Given the description of an element on the screen output the (x, y) to click on. 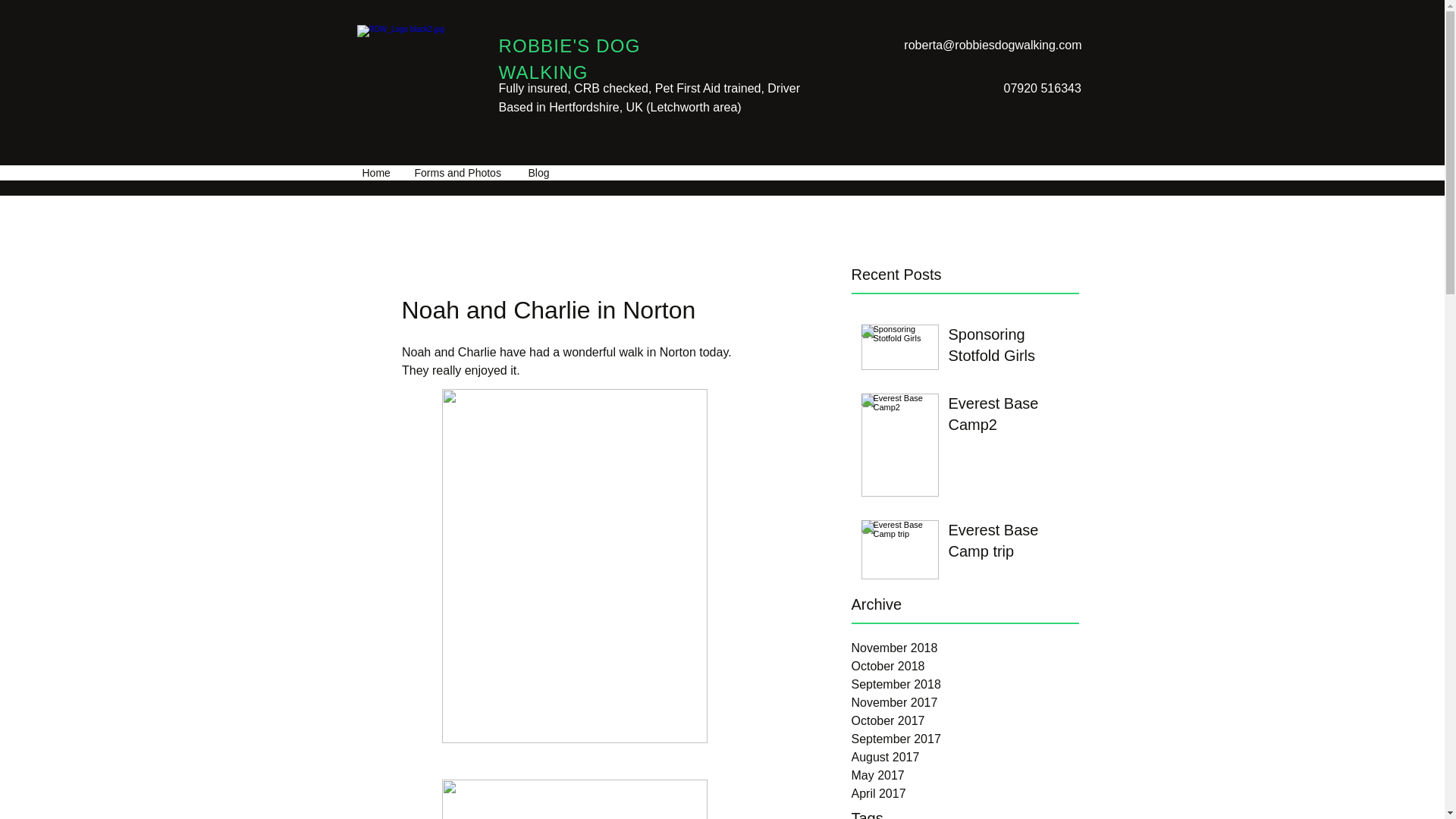
August 2017 (964, 757)
November 2017 (964, 702)
October 2018 (964, 666)
Forms and Photos (459, 172)
Sponsoring Stotfold Girls (1007, 347)
Home (376, 172)
May 2017 (964, 775)
April 2017 (964, 793)
Everest Base Camp2 (1007, 417)
Blog (539, 172)
